Given the description of an element on the screen output the (x, y) to click on. 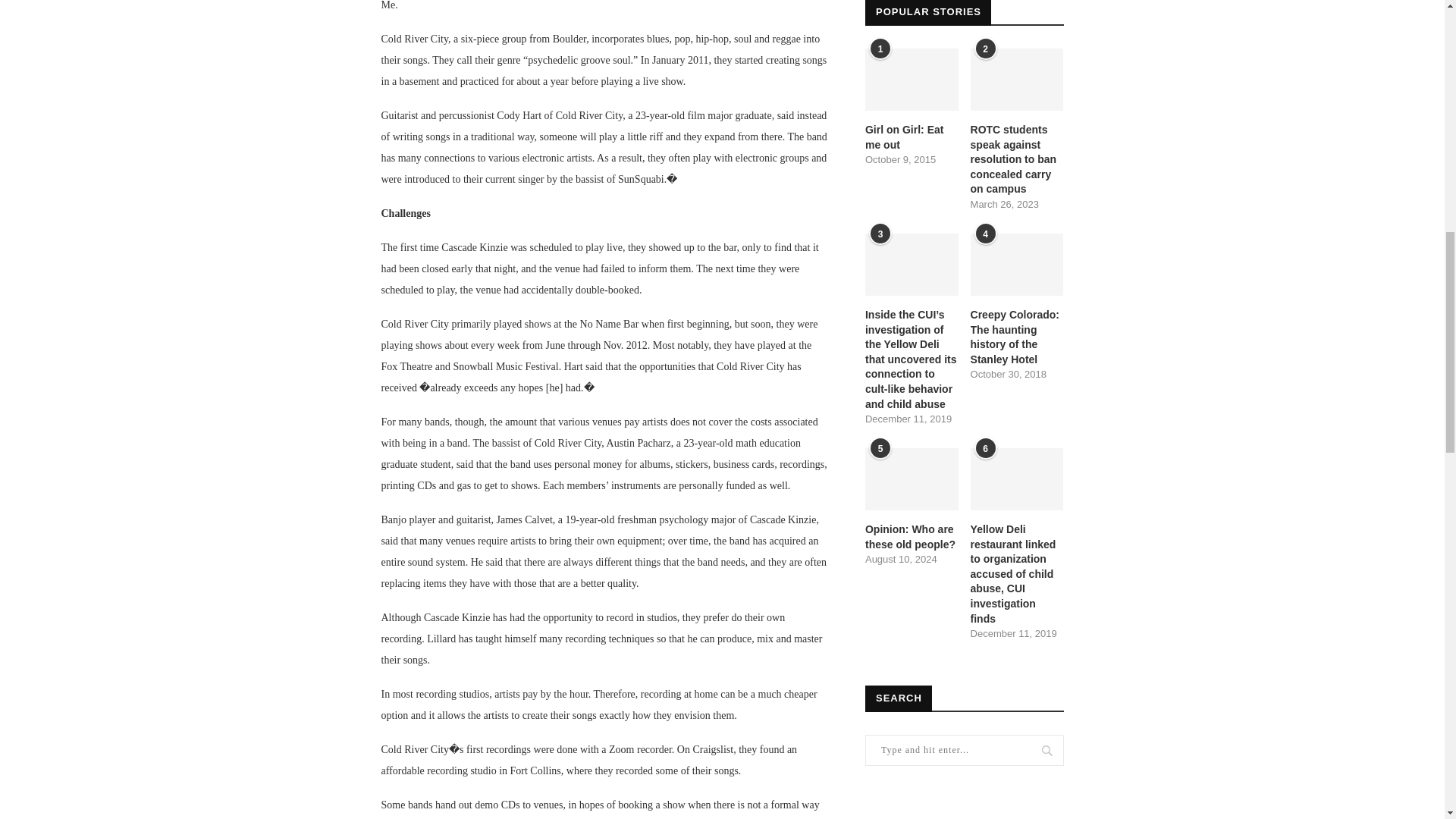
Creepy Colorado: The haunting history of the Stanley Hotel (1017, 264)
Girl on Girl: Eat me out (911, 79)
Girl on Girl: Eat me out (911, 137)
